Given the description of an element on the screen output the (x, y) to click on. 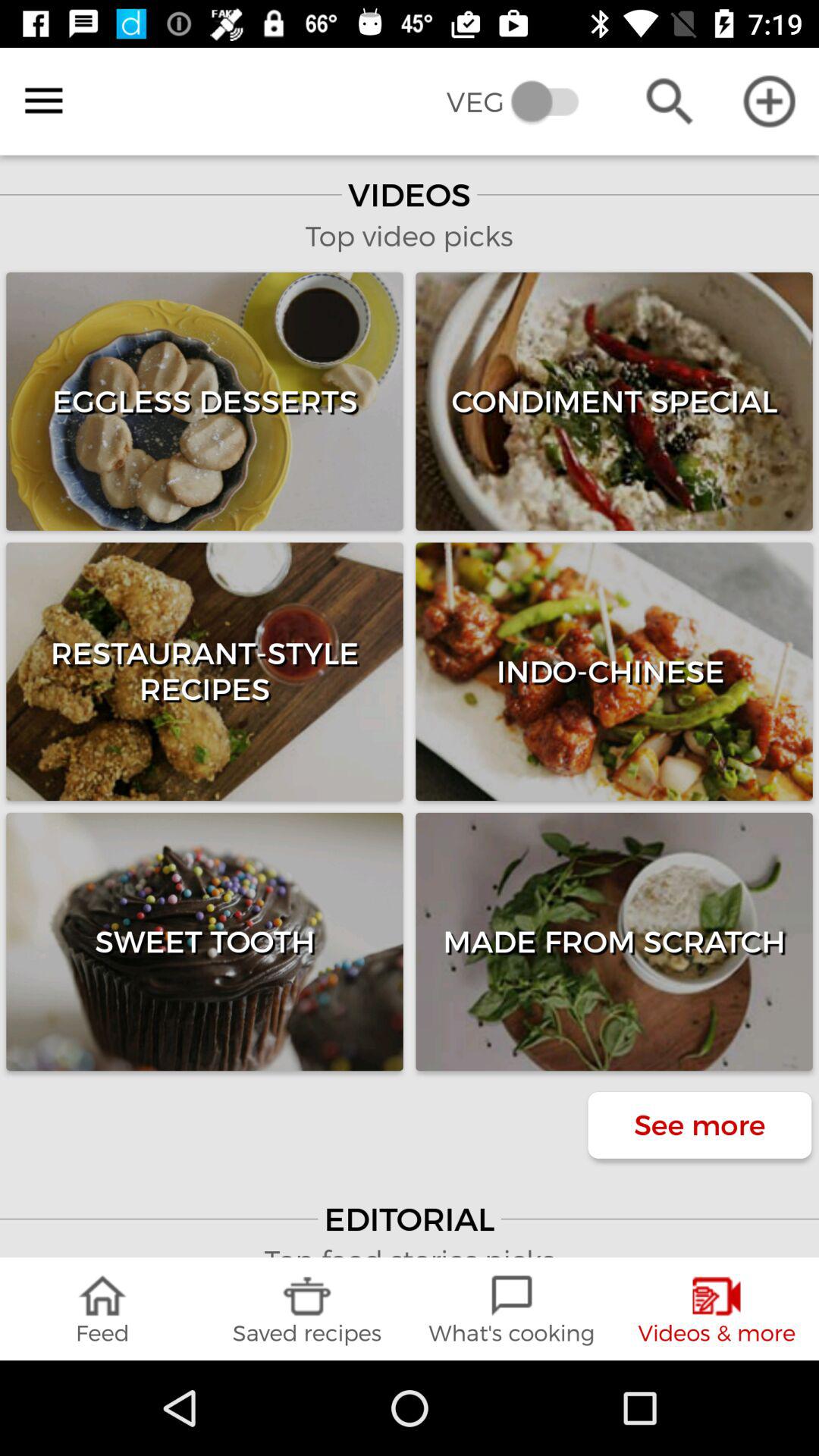
swipe to the veg item (522, 101)
